Given the description of an element on the screen output the (x, y) to click on. 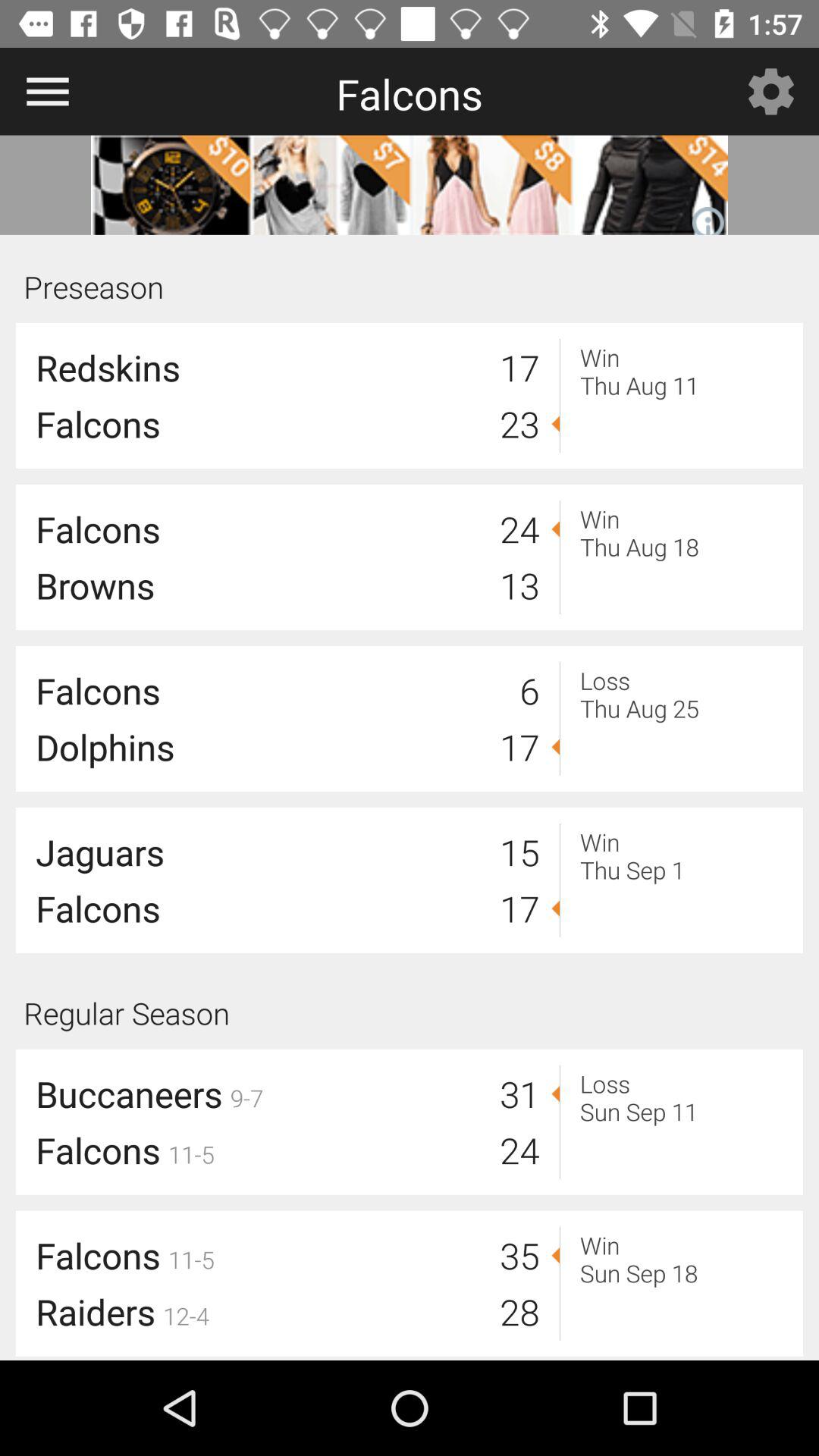
click to more details (409, 184)
